Given the description of an element on the screen output the (x, y) to click on. 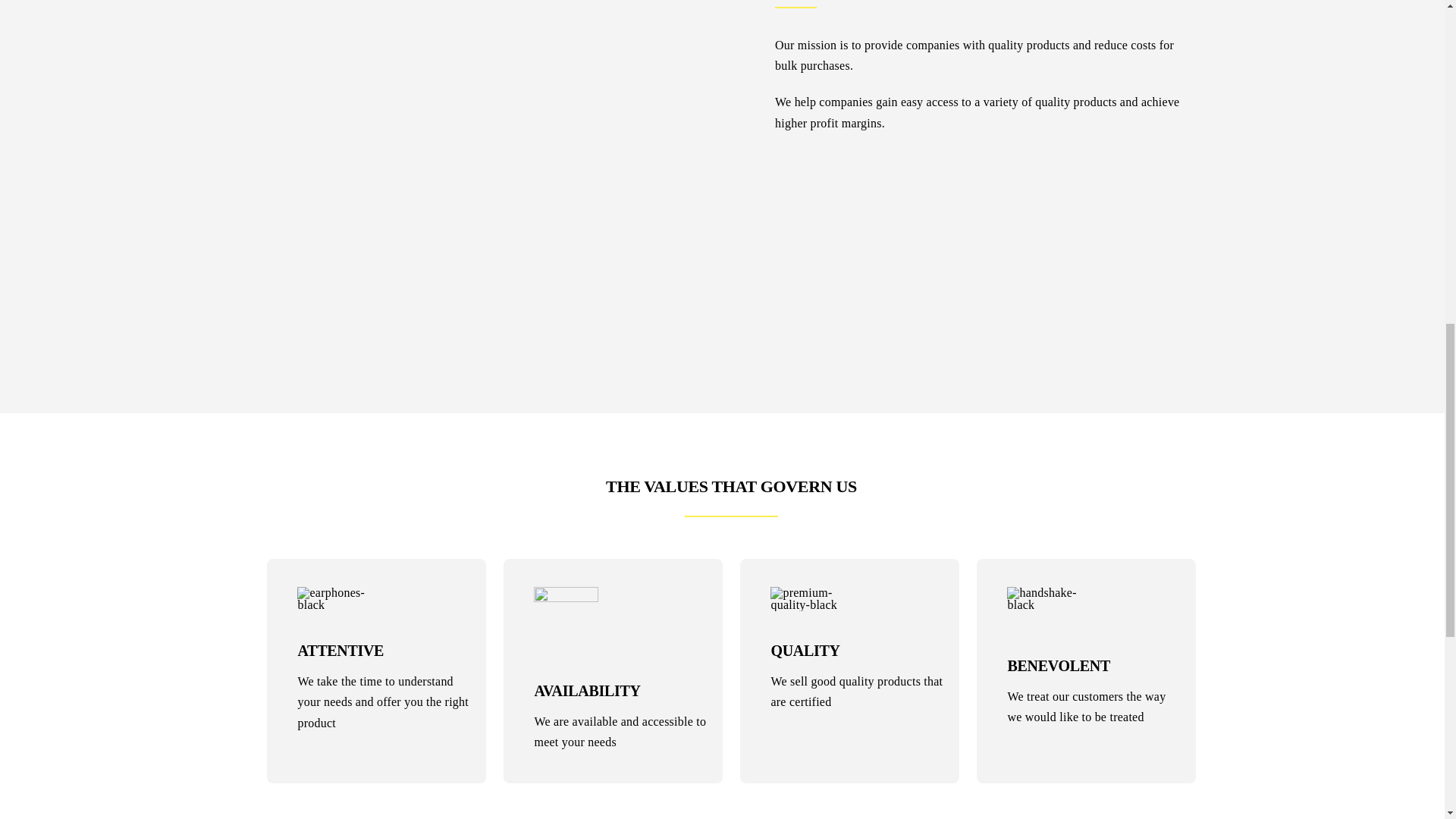
009-handshake black (1052, 598)
007-earphones black (331, 598)
008-premium-quality black (804, 598)
Layer 5 (566, 619)
